Given the description of an element on the screen output the (x, y) to click on. 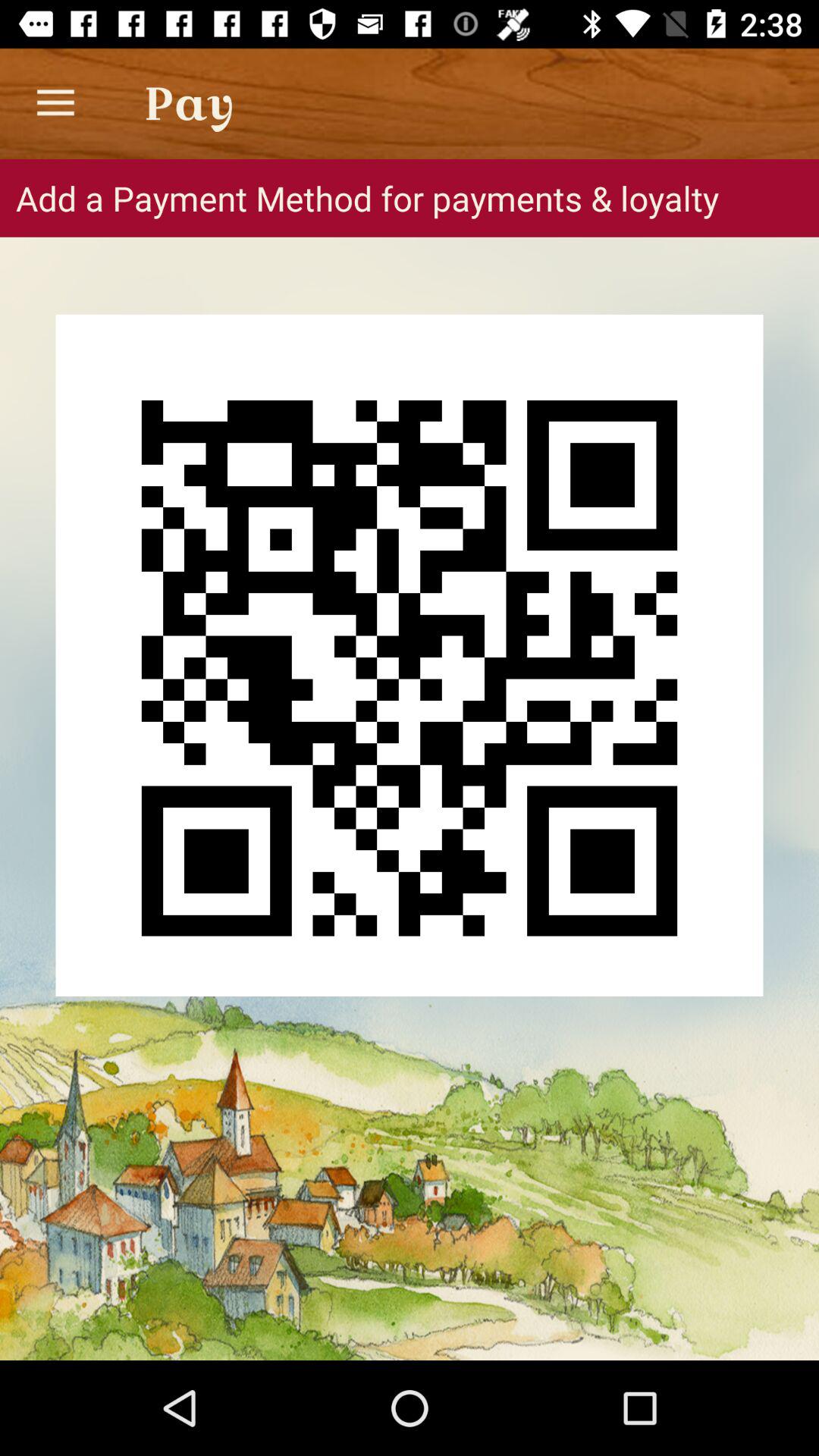
turn on the add a payment item (409, 198)
